Given the description of an element on the screen output the (x, y) to click on. 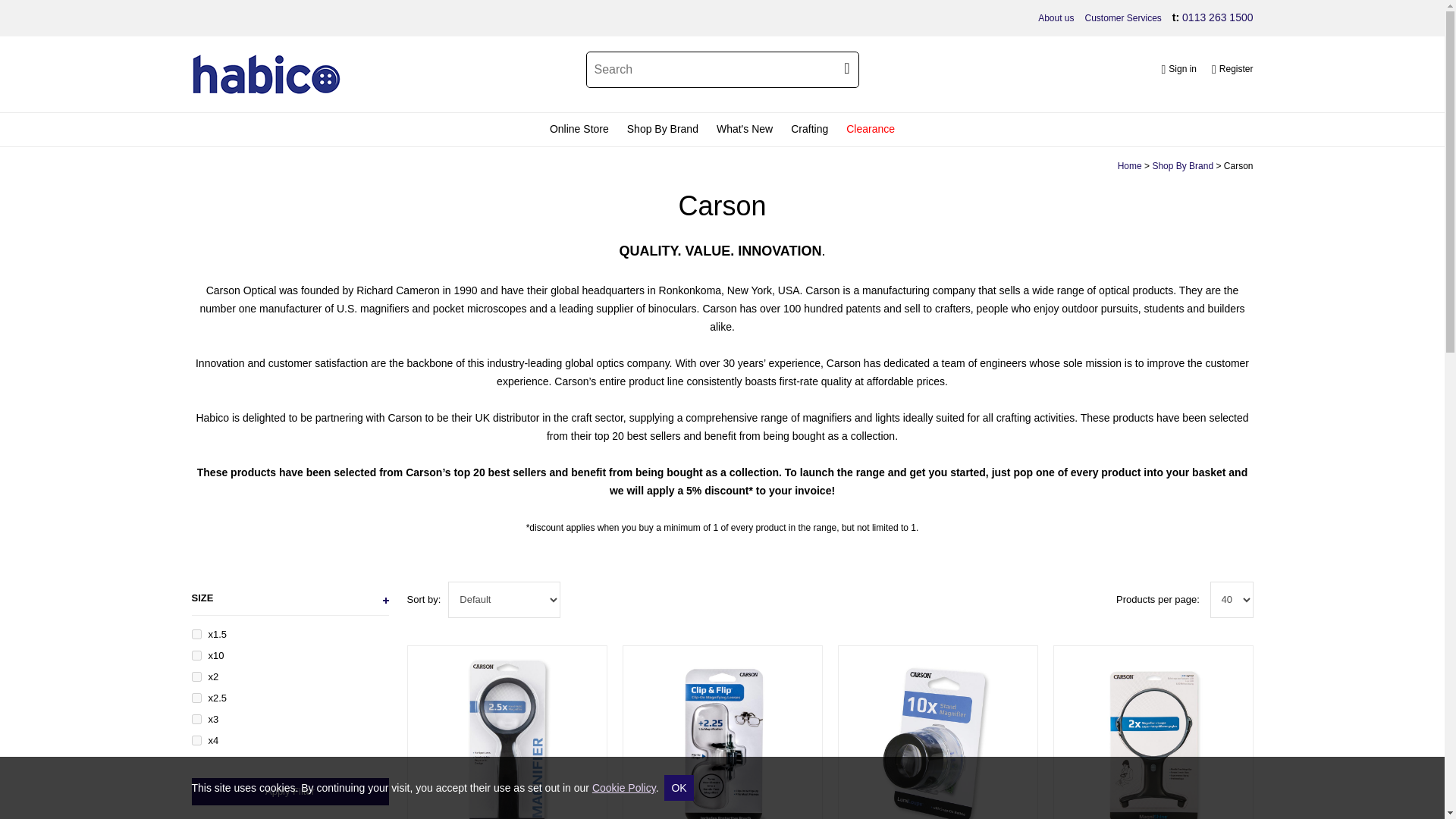
Shop By Brand (662, 129)
x2 (195, 676)
Apply Filter (289, 791)
About us (1056, 18)
0113 263 1500 (1217, 17)
x3 (195, 718)
Customer Services (1122, 18)
Register (1232, 69)
x1.5 (195, 634)
Sign in (1178, 69)
x4 (195, 740)
x2.5 (195, 697)
Online Store (578, 129)
x10 (195, 655)
